Given the description of an element on the screen output the (x, y) to click on. 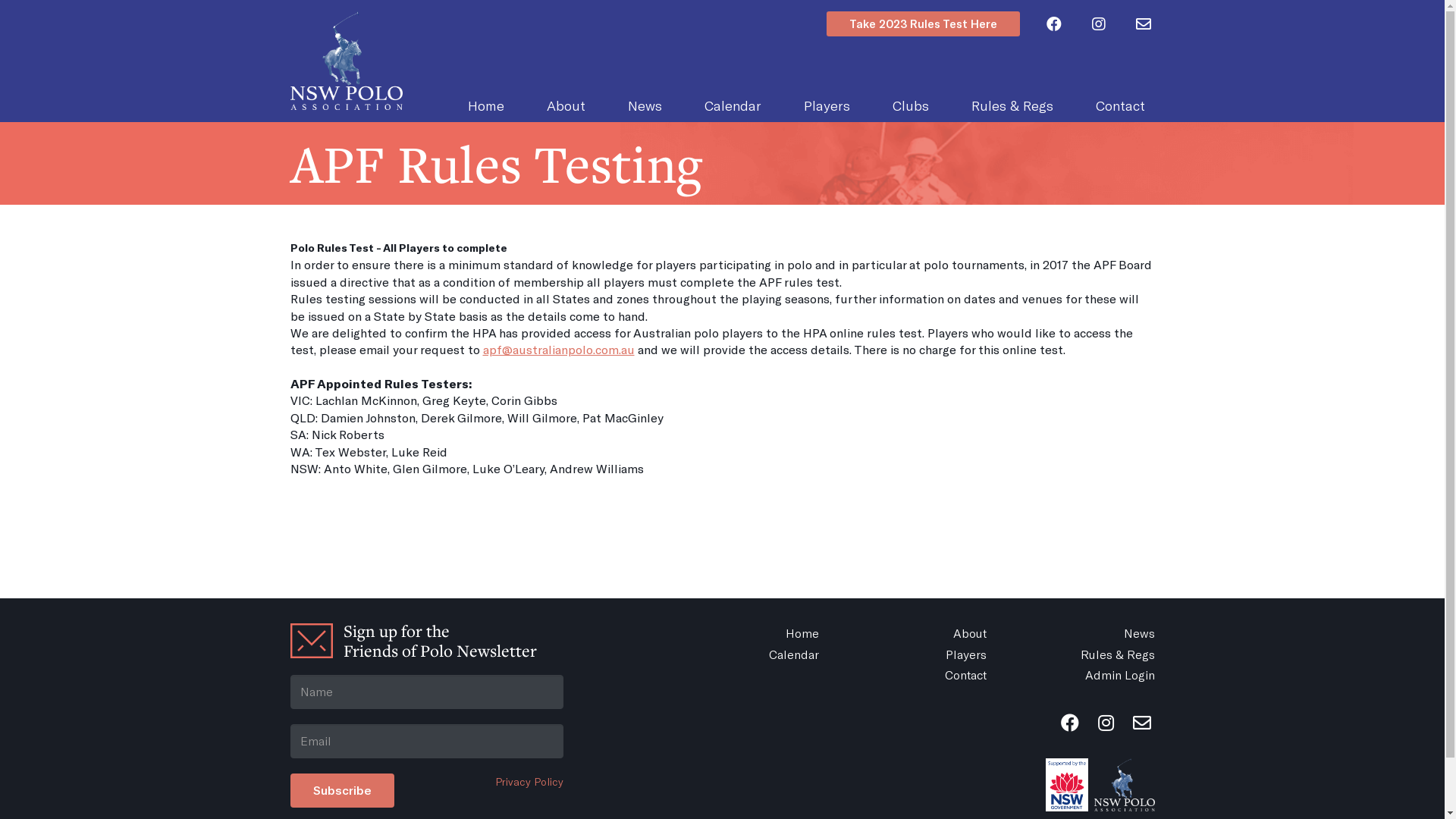
About Element type: text (564, 105)
Clubs Element type: text (909, 105)
Home Element type: text (484, 105)
apf@australianpolo.com.au Element type: text (557, 349)
Contact Element type: text (915, 674)
Take 2023 Rules Test Here Element type: text (922, 23)
News Element type: text (1083, 632)
Players Element type: text (915, 654)
Calendar Element type: text (731, 105)
About Element type: text (915, 632)
Privacy Policy Element type: text (528, 781)
Players Element type: text (826, 105)
Rules & Regs Element type: text (1011, 105)
Home Element type: text (747, 632)
Contact Element type: text (1119, 105)
Admin Login Element type: text (1083, 674)
Calendar Element type: text (747, 654)
Subscribe Element type: text (341, 790)
News Element type: text (644, 105)
Rules & Regs Element type: text (1083, 654)
